Given the description of an element on the screen output the (x, y) to click on. 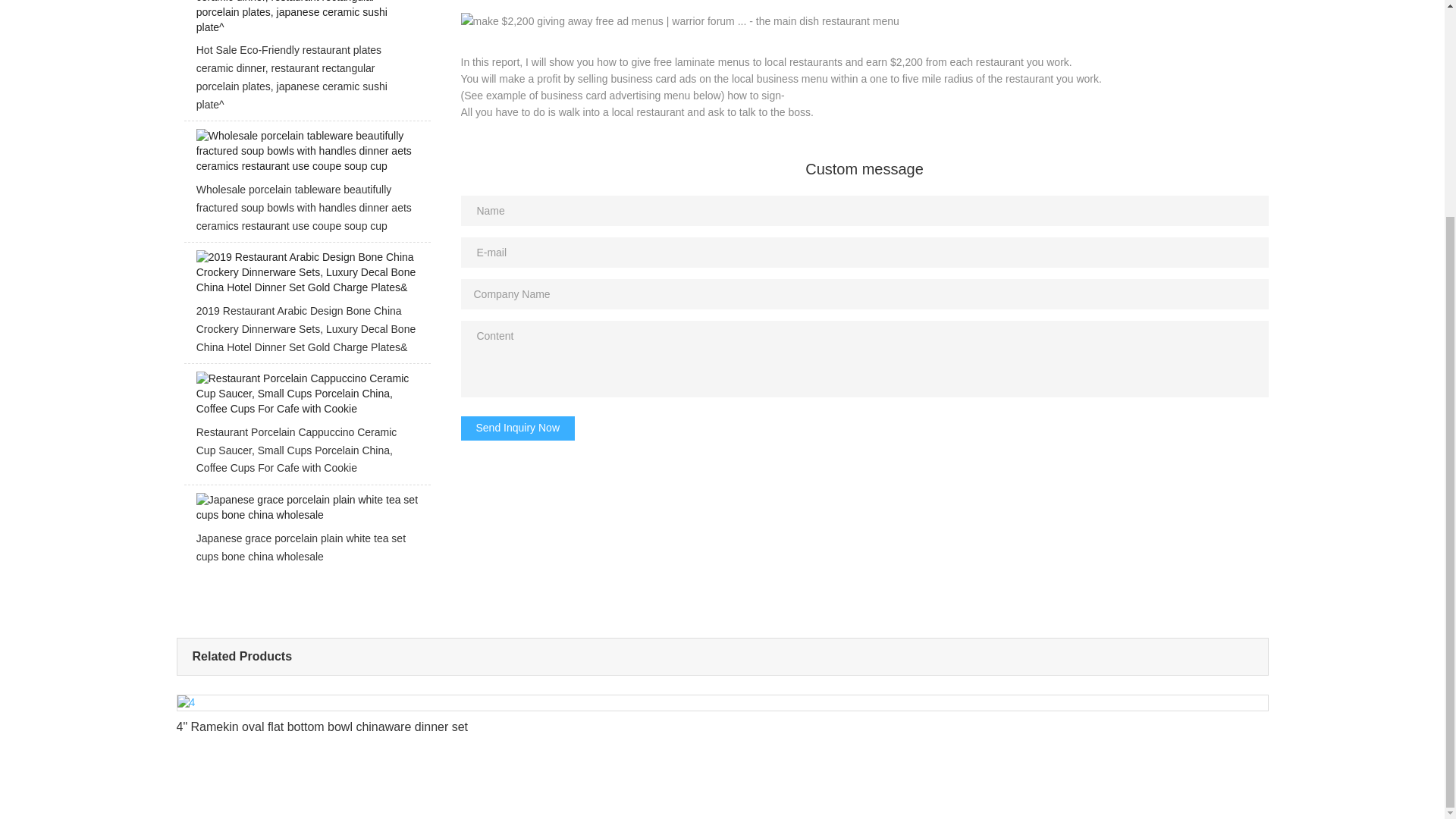
4" Ramekin oval flat bottom bowl chinaware dinner set (722, 718)
Send Inquiry Now (518, 428)
